Given the description of an element on the screen output the (x, y) to click on. 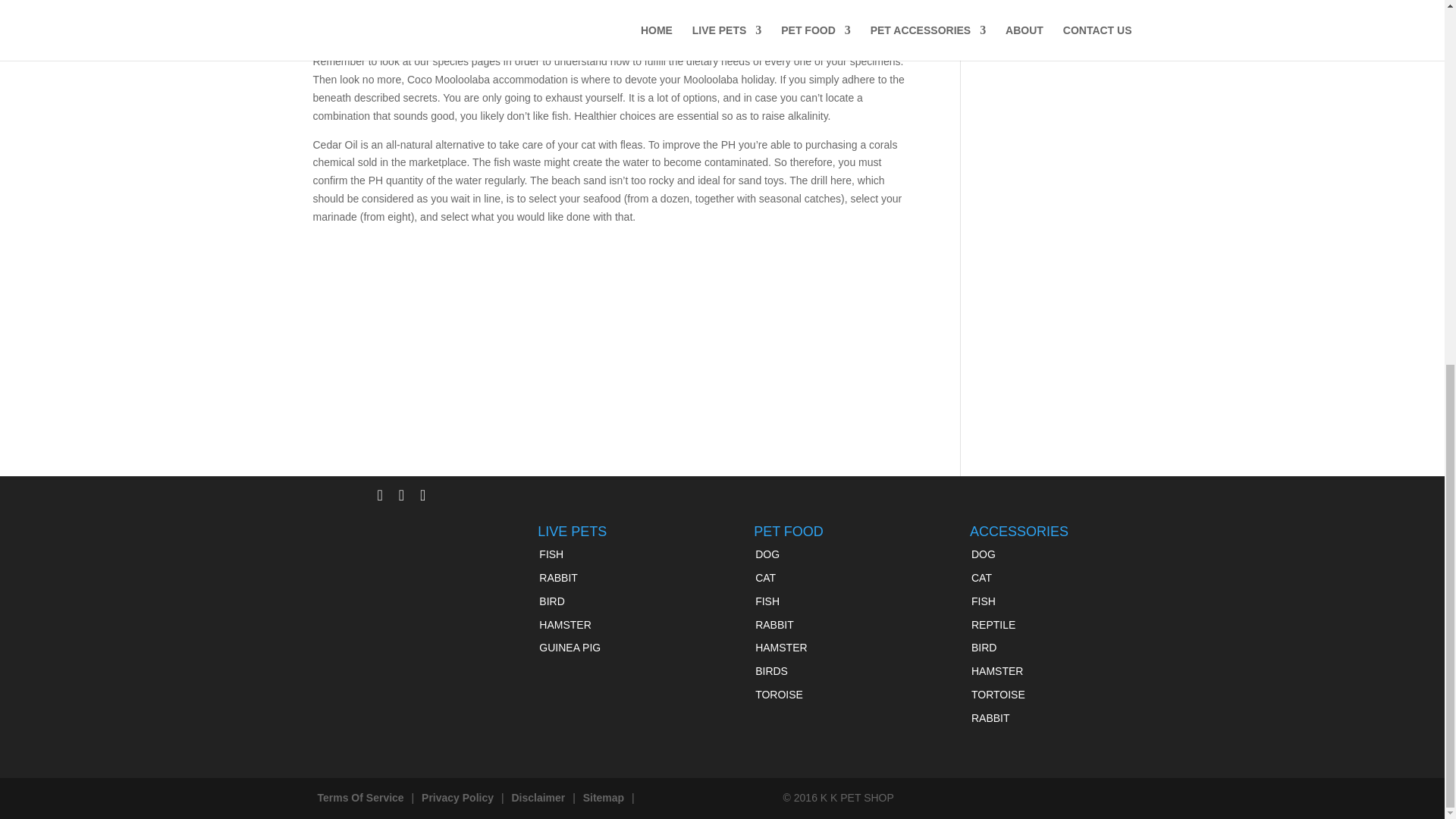
GUINEA PIG (568, 647)
FISH (550, 553)
BIRD (551, 601)
RABBIT (558, 577)
HAMSTER (564, 624)
DOG (766, 553)
